Given the description of an element on the screen output the (x, y) to click on. 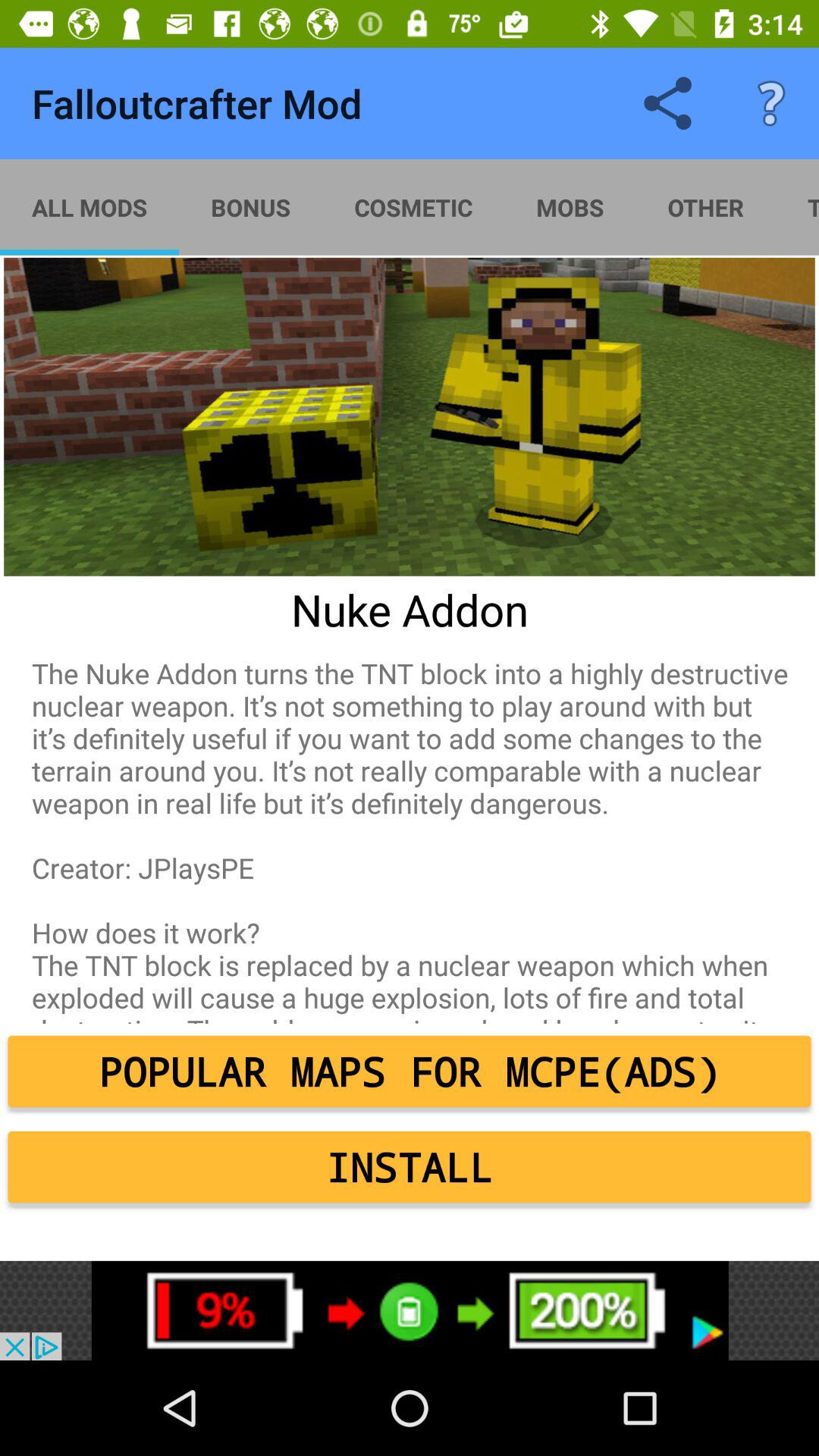
games (409, 1310)
